Given the description of an element on the screen output the (x, y) to click on. 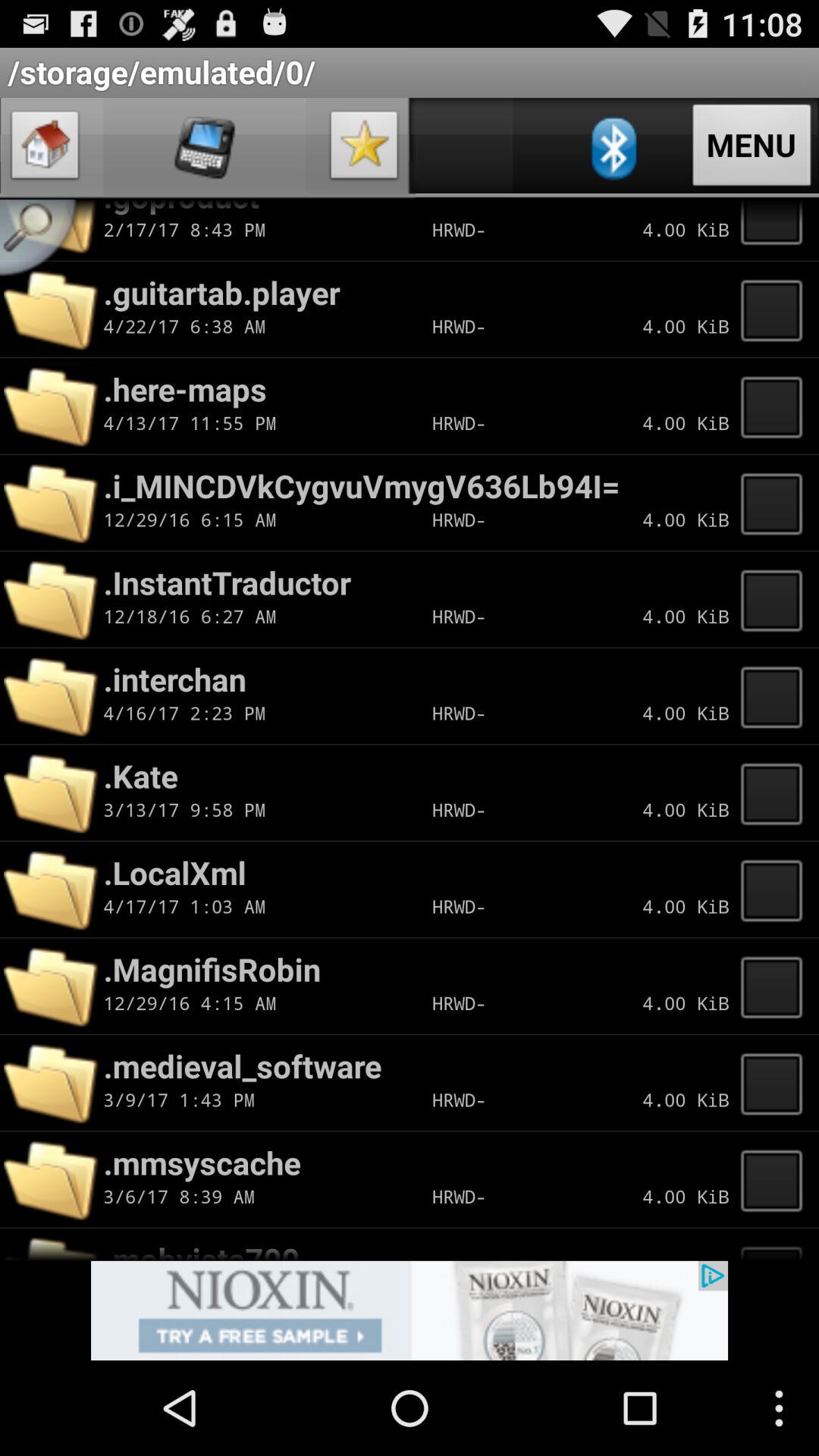
select folder (776, 599)
